Given the description of an element on the screen output the (x, y) to click on. 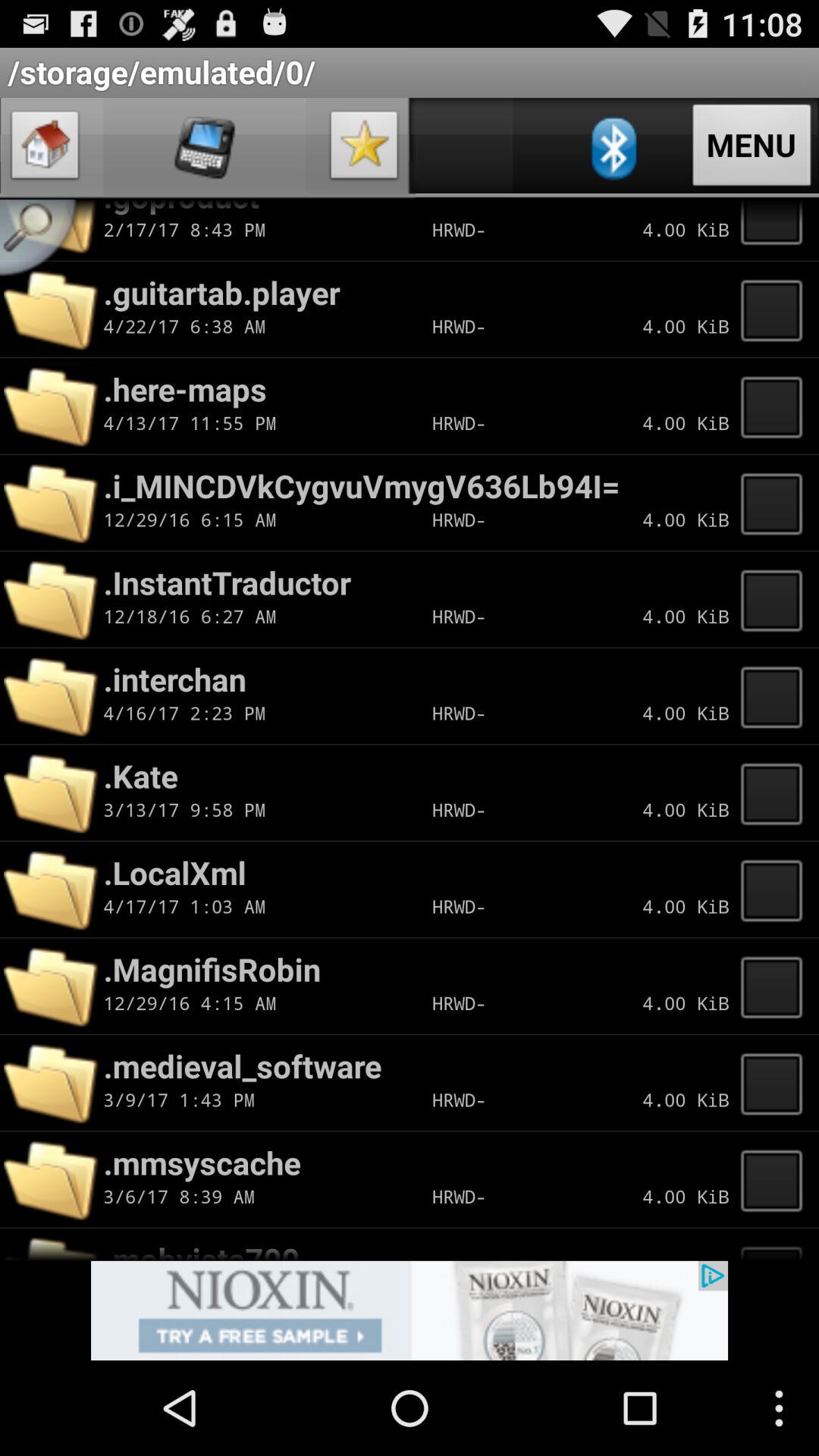
select folder (776, 599)
